Given the description of an element on the screen output the (x, y) to click on. 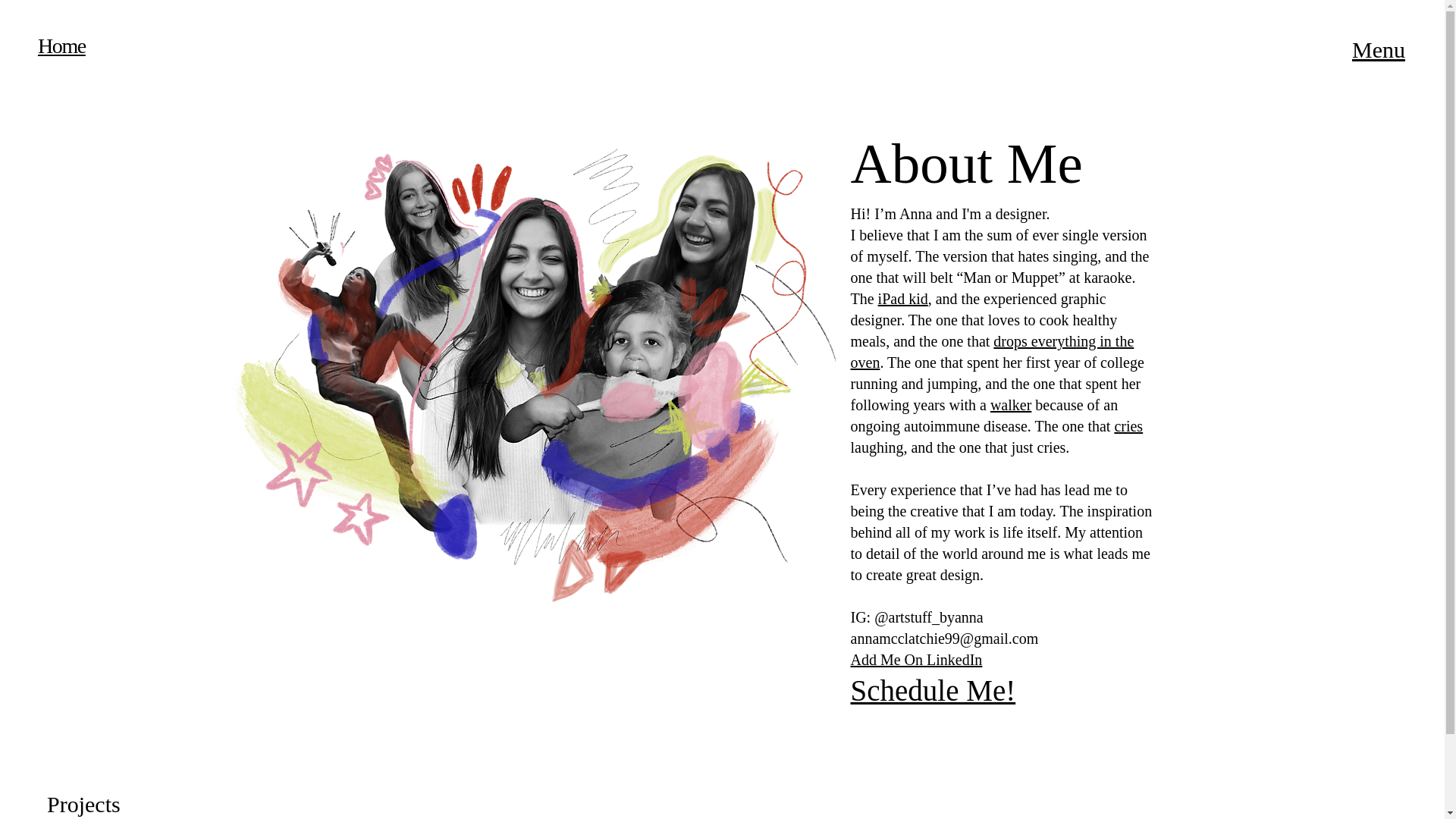
Schedule Me! (933, 690)
Menu (1378, 49)
Home (61, 45)
iPad kid (902, 298)
Add Me On LinkedIn (916, 659)
drops everything in the oven (992, 351)
cries (1127, 425)
Projects (83, 803)
walker (1010, 404)
